Given the description of an element on the screen output the (x, y) to click on. 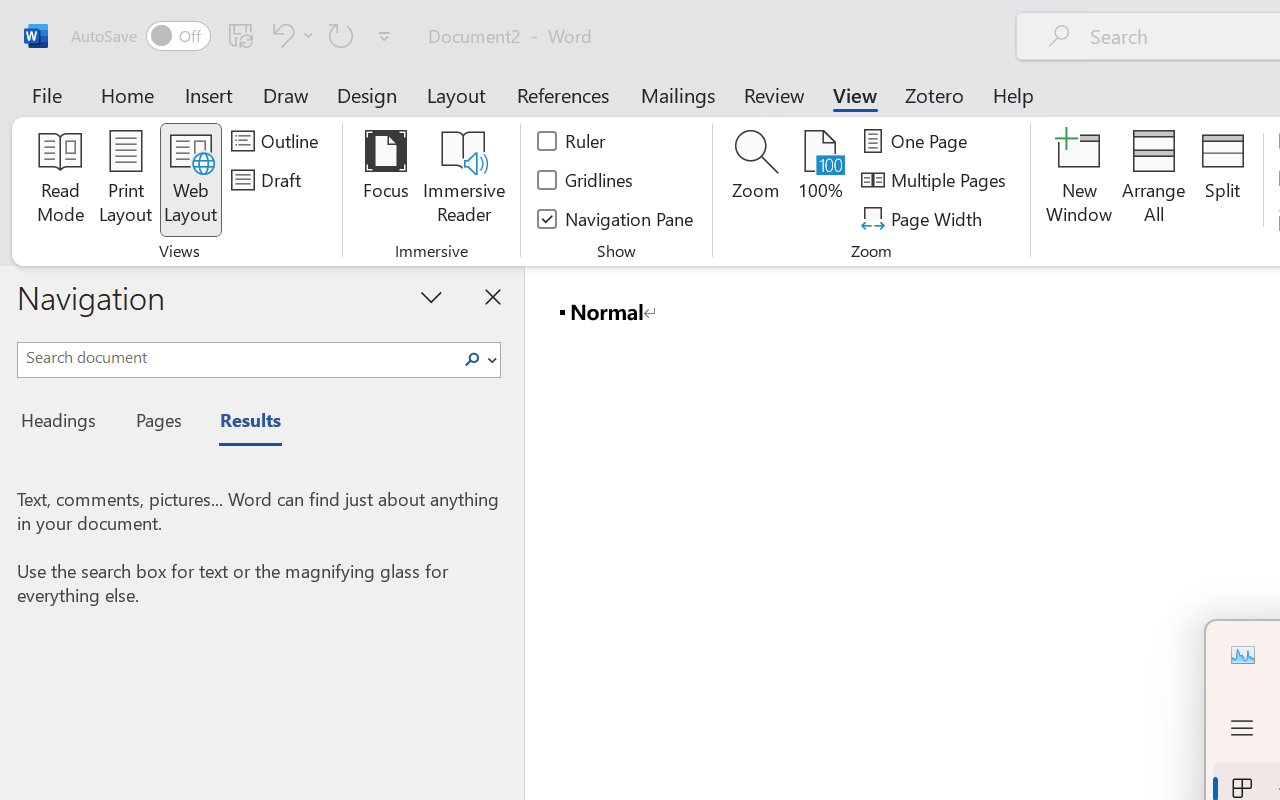
Layout (456, 94)
Immersive Reader (464, 179)
One Page (917, 141)
Navigation Pane (616, 218)
Mailings (678, 94)
Split (1222, 179)
Arrange All (1153, 179)
New Window (1079, 179)
Pages (156, 423)
References (562, 94)
Results (240, 423)
